Given the description of an element on the screen output the (x, y) to click on. 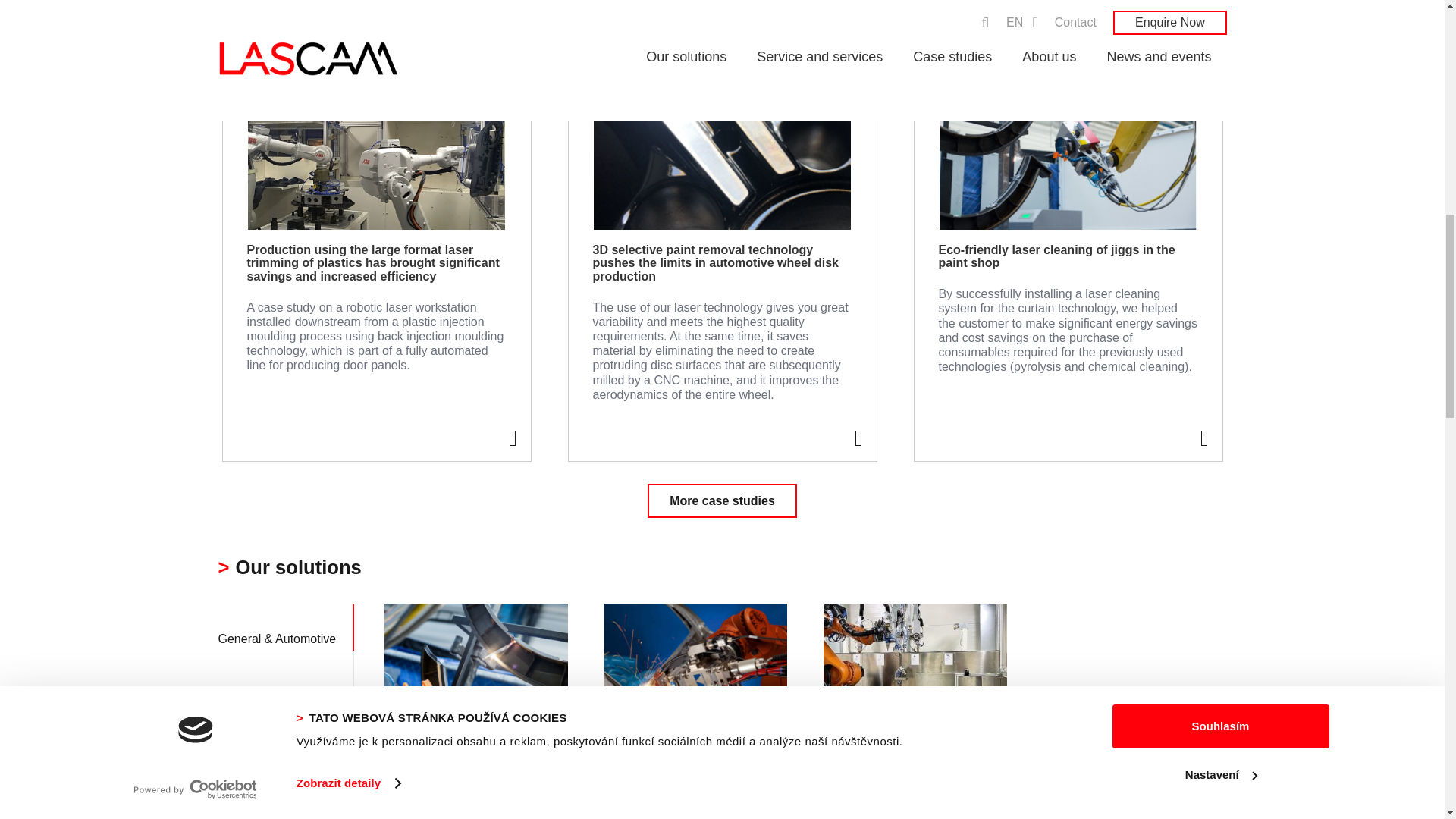
Back to top (1413, 26)
